Given the description of an element on the screen output the (x, y) to click on. 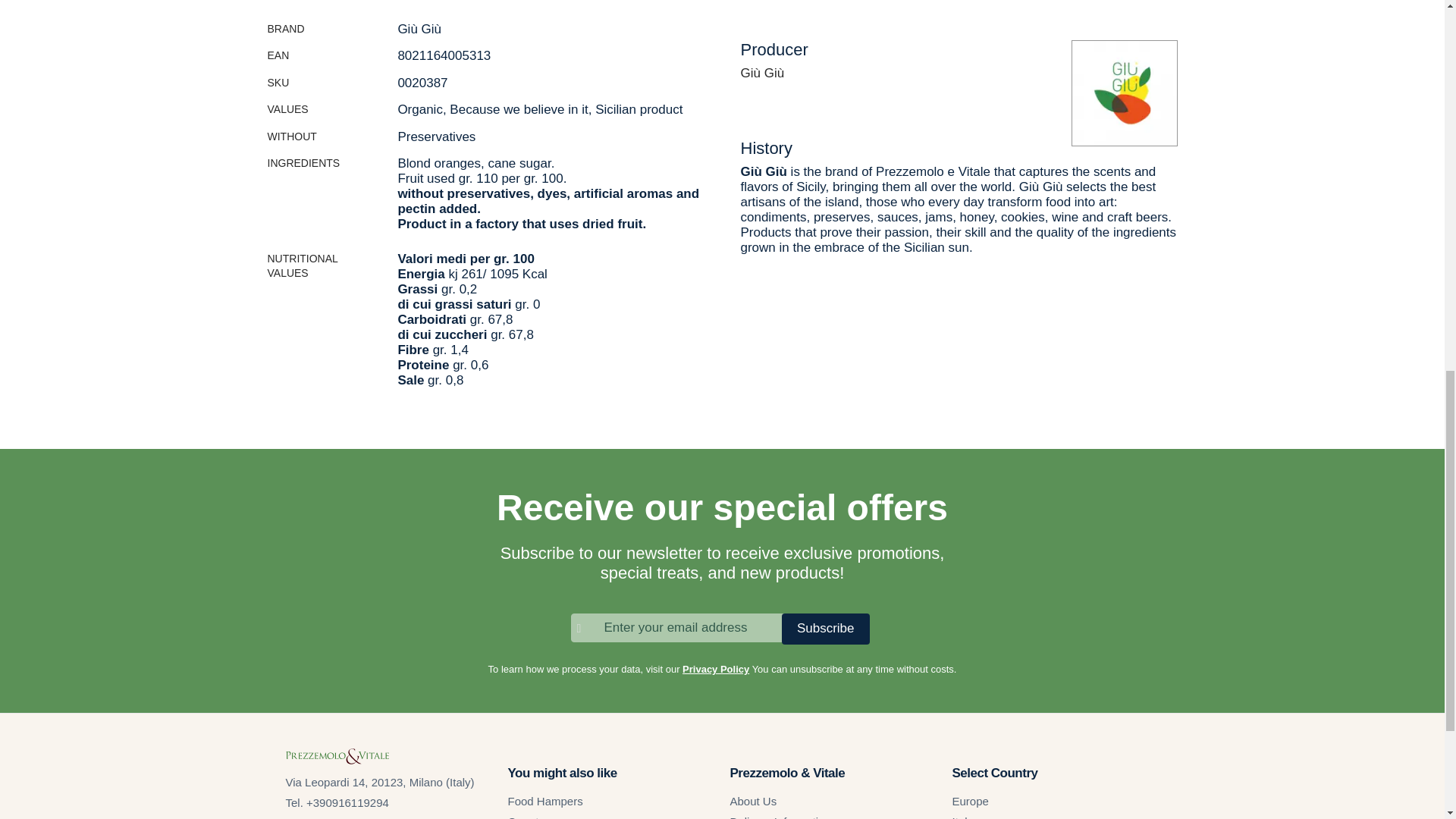
Subscribe (825, 628)
About us (752, 800)
Food Hampers (545, 800)
Delivery Information (779, 816)
